Given the description of an element on the screen output the (x, y) to click on. 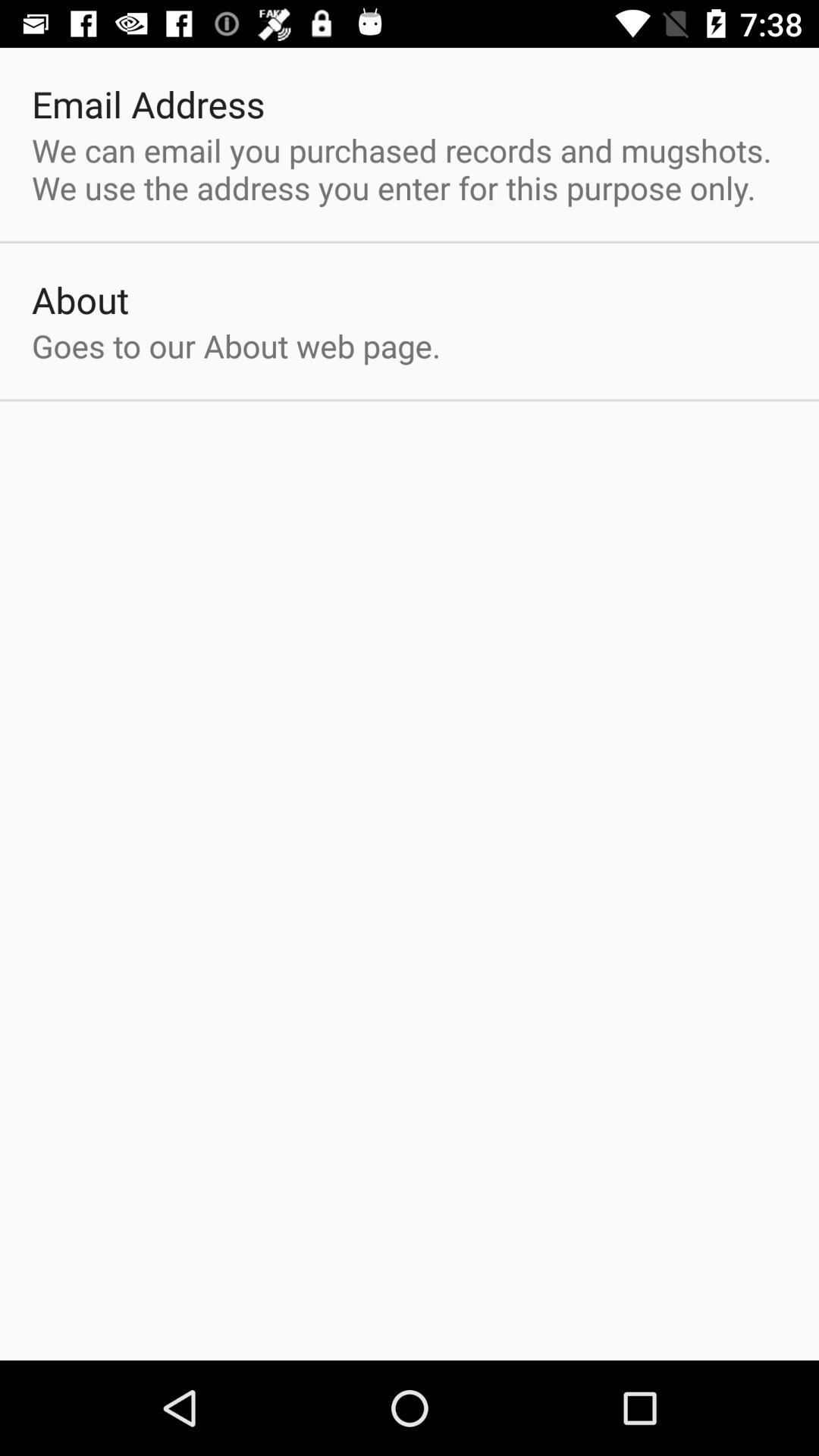
scroll until the we can email item (409, 168)
